Given the description of an element on the screen output the (x, y) to click on. 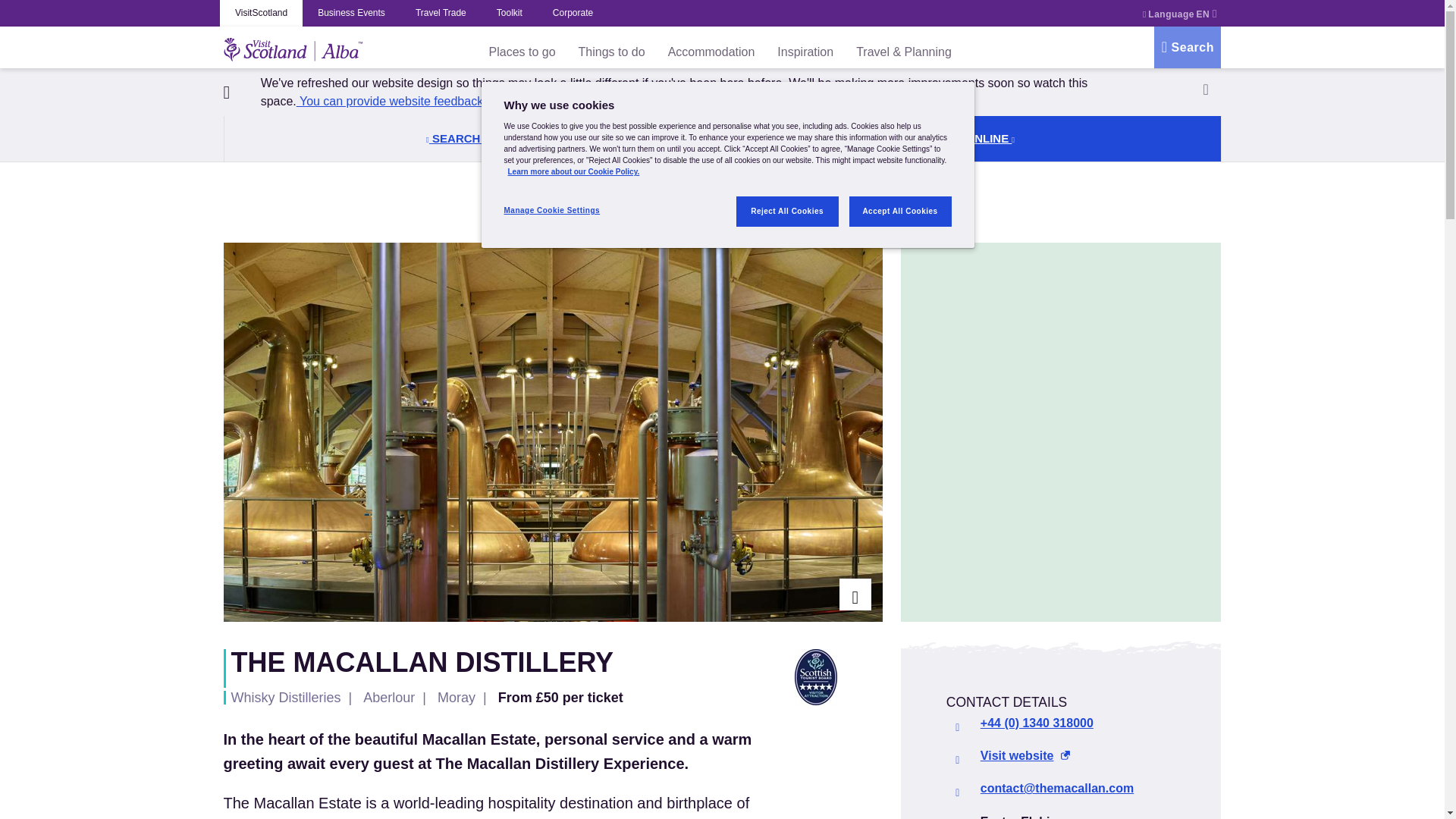
VisitScotland (260, 13)
Toolkit (509, 13)
Places to go (521, 51)
Travel Trade (440, 13)
Corporate (572, 13)
VisitScotland Home (292, 46)
Business Events (351, 13)
LanguageEN (1176, 13)
